Given the description of an element on the screen output the (x, y) to click on. 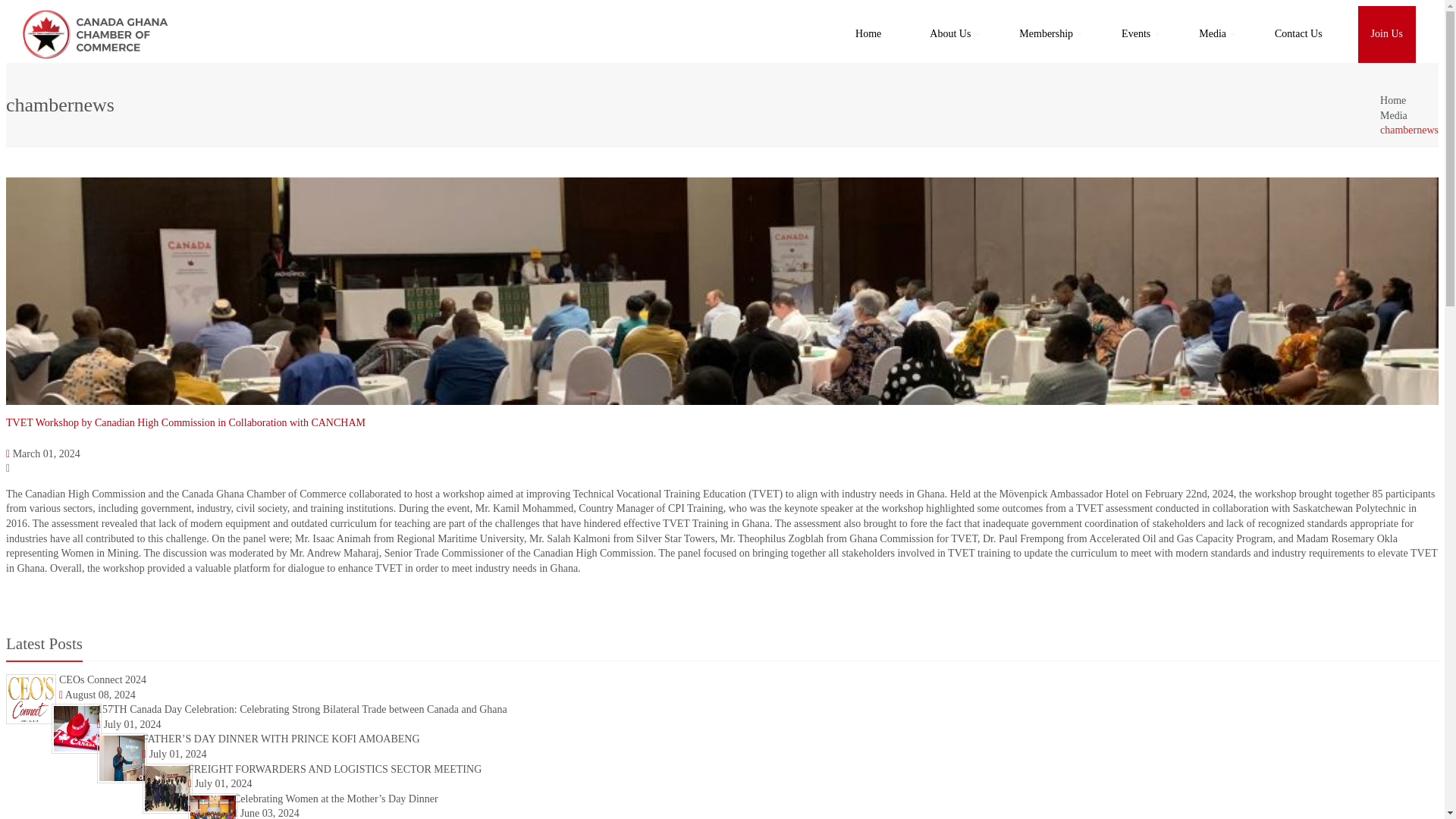
Media (1212, 34)
Contact Us (1298, 34)
Home (1393, 100)
Media (1393, 115)
FREIGHT FORWARDERS AND LOGISTICS SECTOR MEETING (334, 768)
Join Us (1386, 34)
Canada Ghana Chamber of Commerce (94, 34)
Membership (1046, 34)
About Us (950, 34)
